Given the description of an element on the screen output the (x, y) to click on. 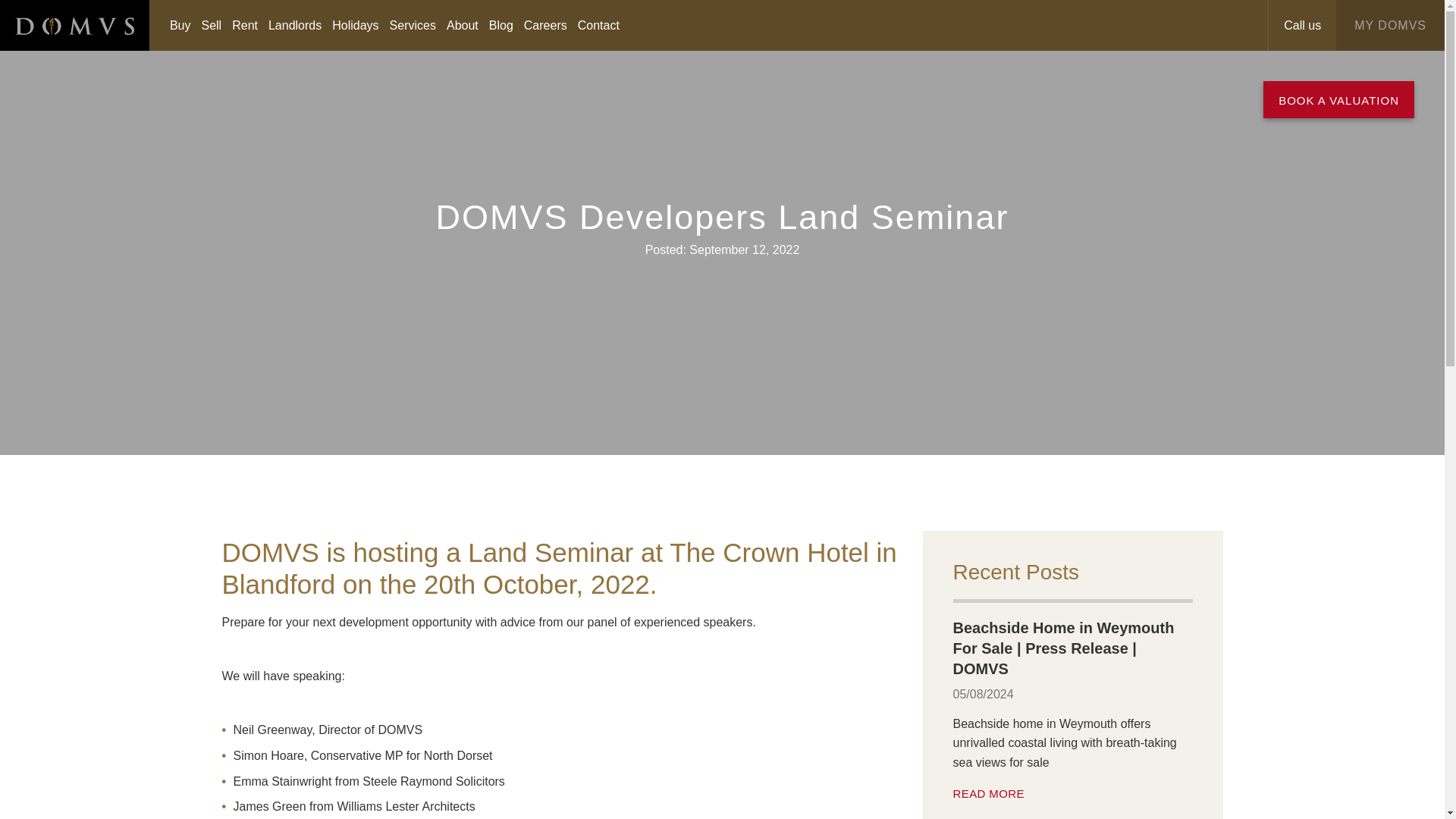
Buy (180, 24)
Rent (245, 24)
Landlords (294, 24)
Sell (211, 24)
